Given the description of an element on the screen output the (x, y) to click on. 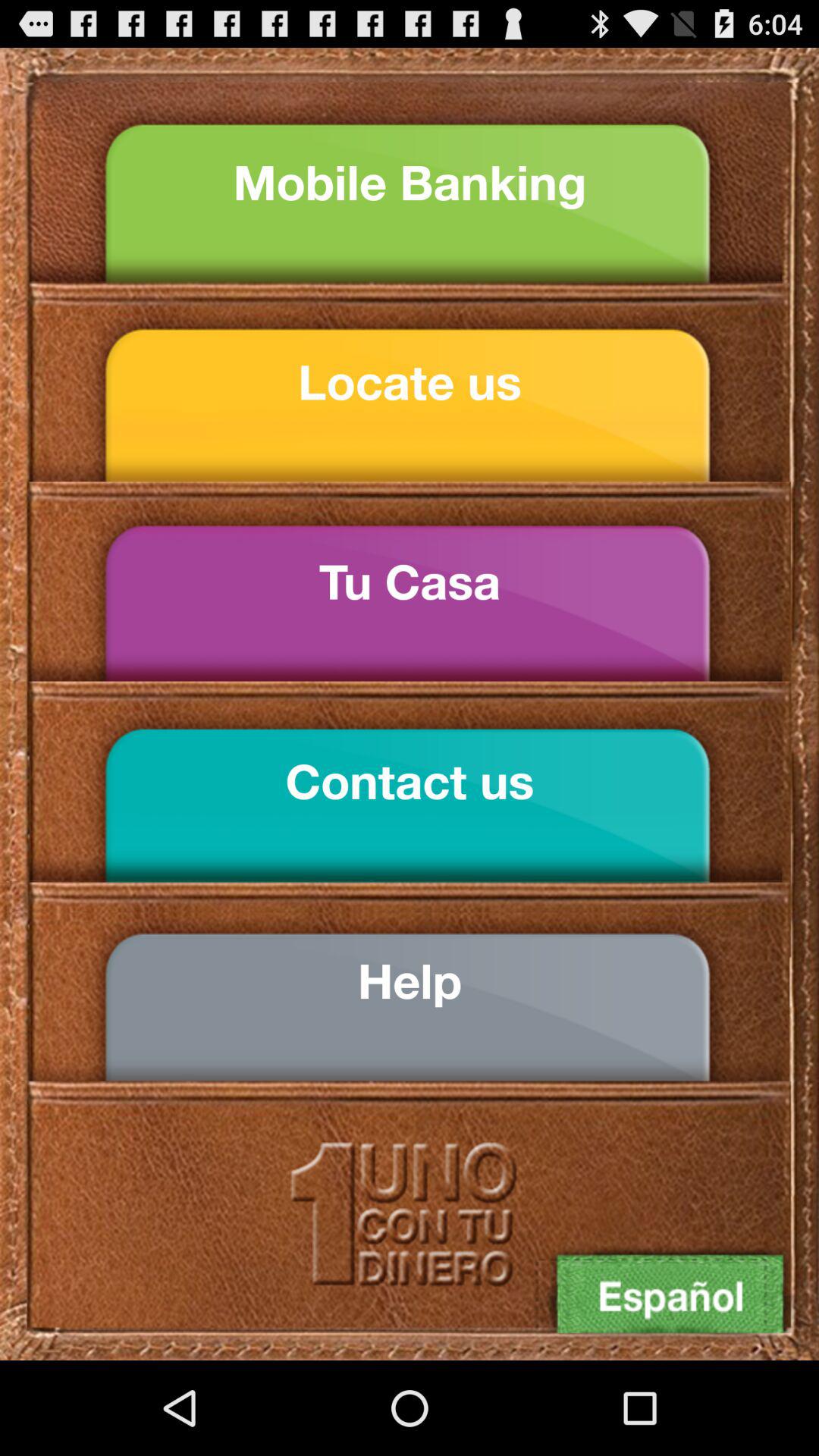
open mobile banking (409, 182)
